Given the description of an element on the screen output the (x, y) to click on. 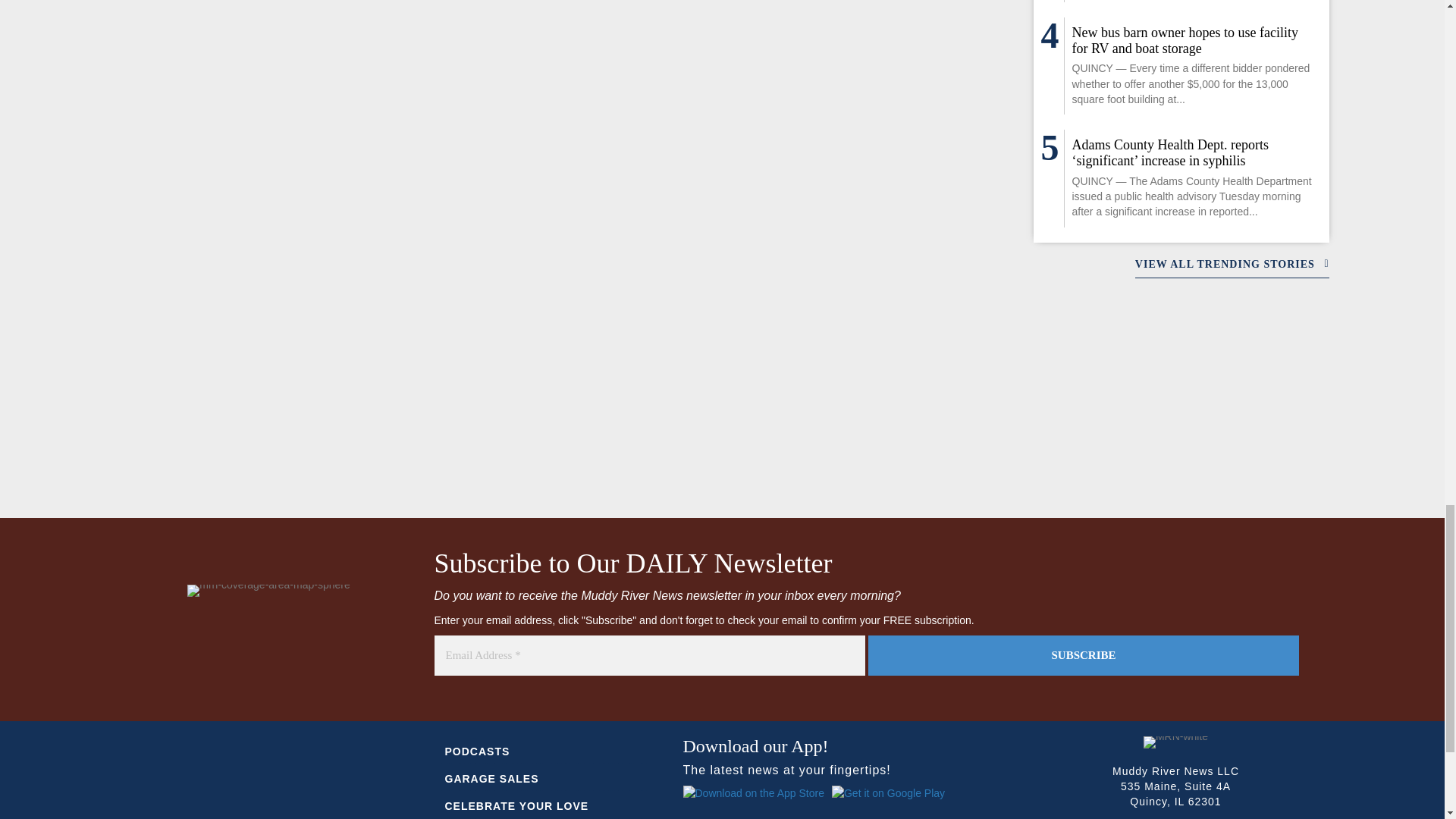
mrn-coverage-area-map-sphere (268, 590)
Email Address (648, 655)
MRN-white (1175, 742)
SUBSCRIBE (1082, 655)
